Given the description of an element on the screen output the (x, y) to click on. 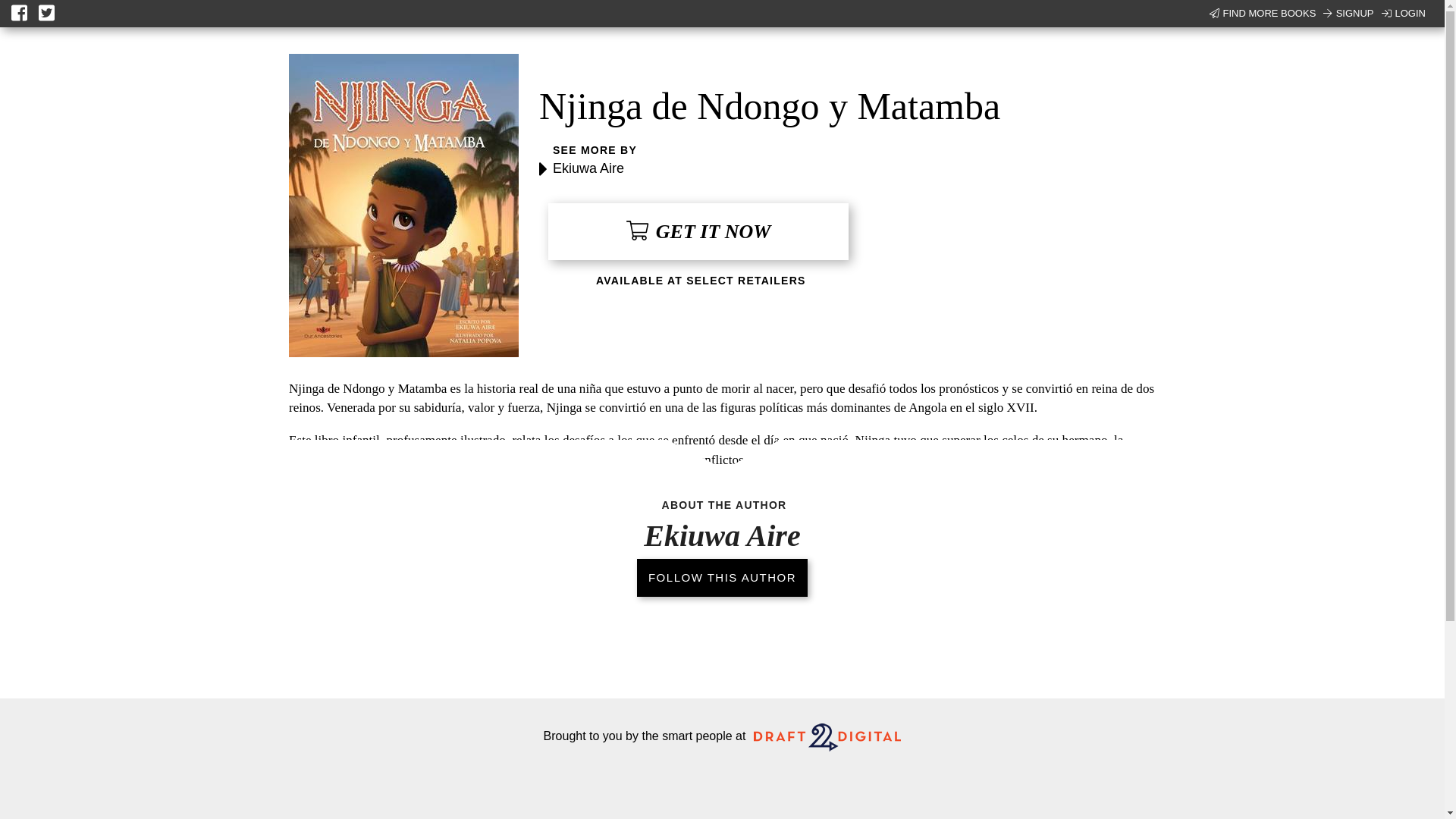
SIGNUP (1348, 13)
FOLLOW THIS AUTHOR (722, 577)
LOGIN (1403, 13)
FIND MORE BOOKS (1262, 13)
Ekiuwa Aire (588, 168)
FOLLOW THIS AUTHOR (722, 581)
GET IT NOW (698, 231)
